Given the description of an element on the screen output the (x, y) to click on. 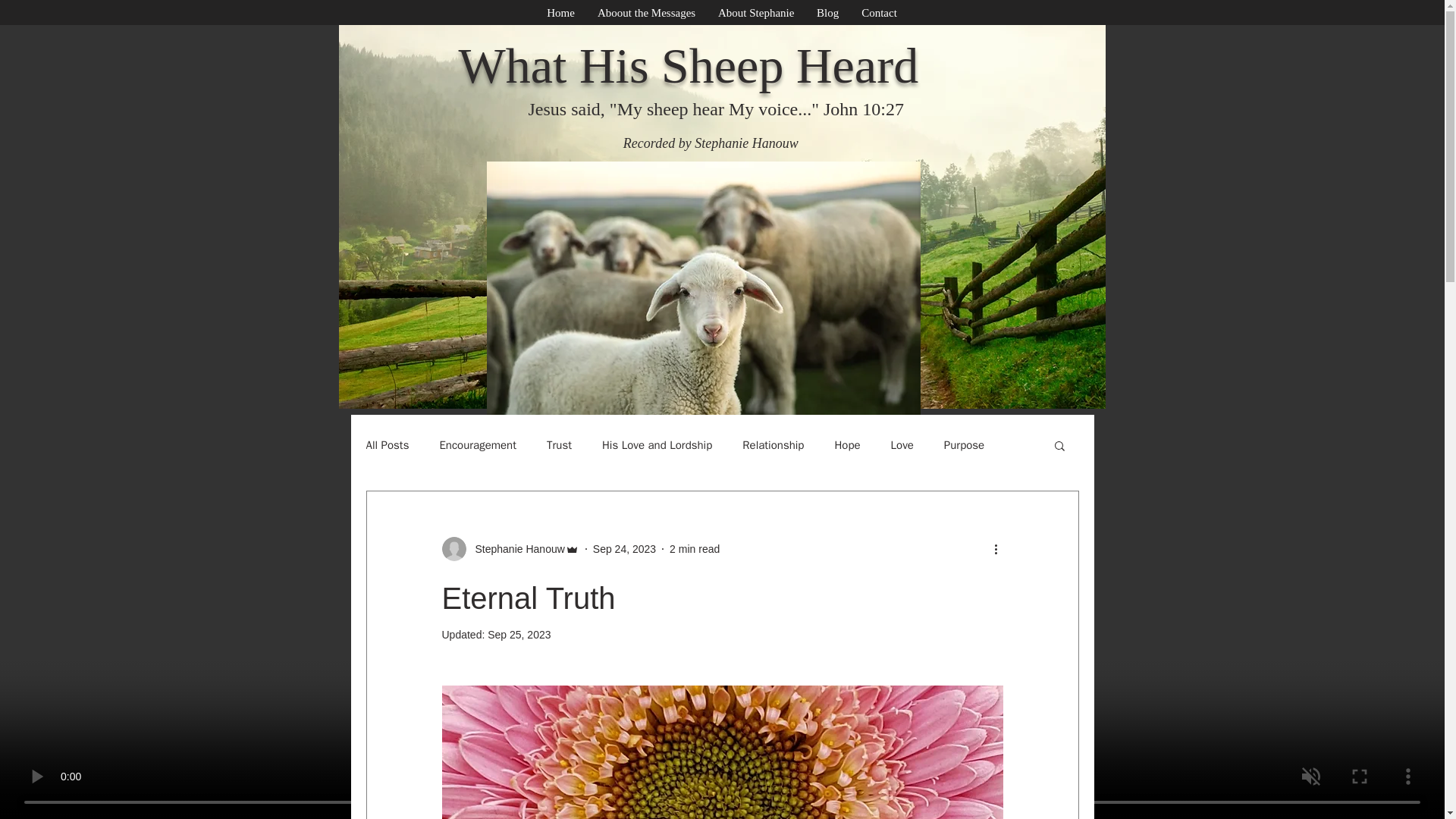
Home (560, 13)
Encouragement (477, 445)
His Love and Lordship (656, 445)
Trust (559, 445)
2 min read (694, 548)
Purpose (963, 445)
Blog (827, 13)
All Posts (387, 445)
Contact (879, 13)
Love (902, 445)
Sep 24, 2023 (624, 548)
Aboout the Messages (646, 13)
Hope (847, 445)
Relationship (772, 445)
Sep 25, 2023 (518, 634)
